Given the description of an element on the screen output the (x, y) to click on. 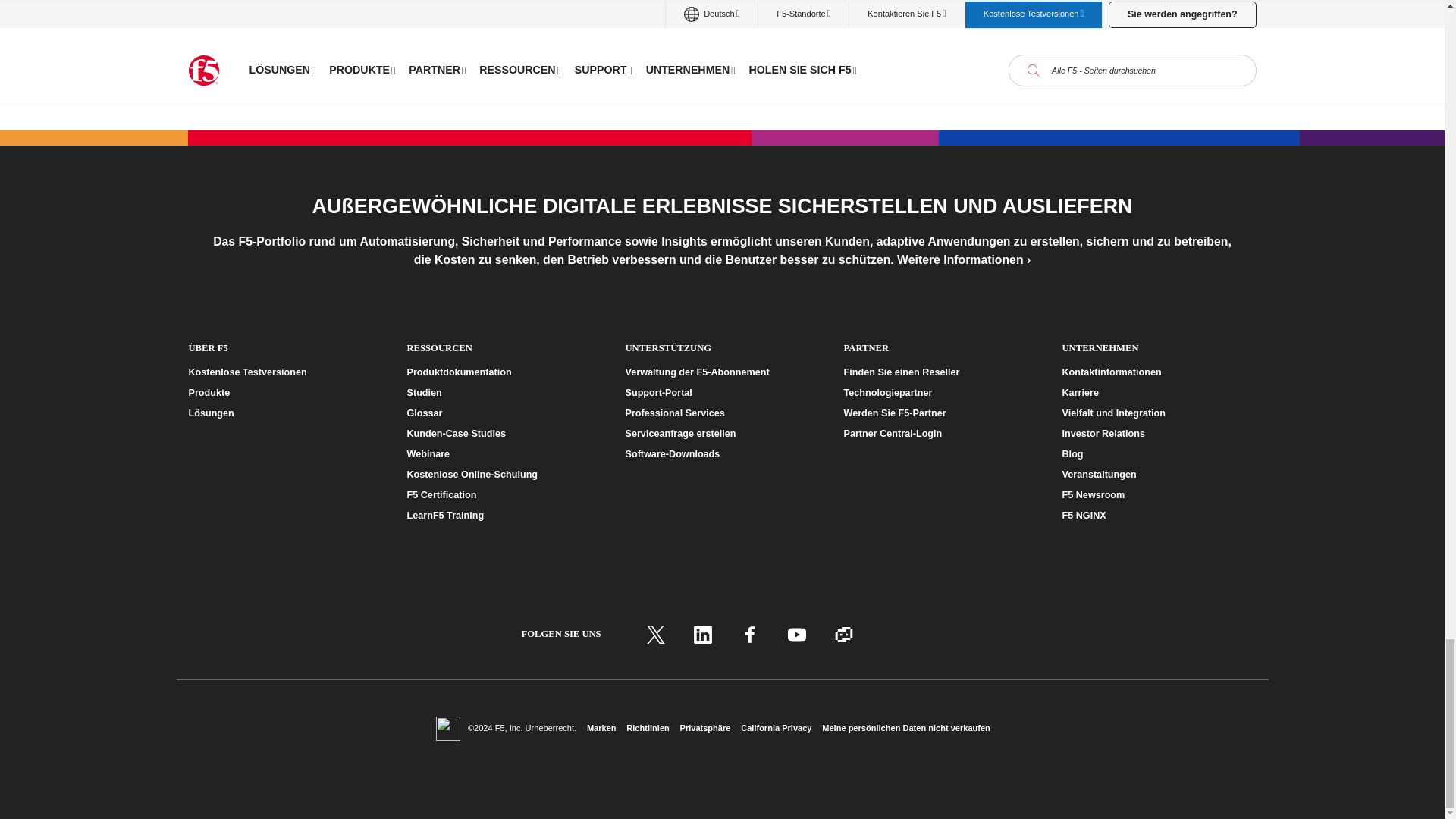
Studien (502, 392)
Kostenlose Testversionen (284, 372)
Produktdokumentation (502, 372)
Kunden-Case Studies (502, 433)
Kostenlose Online-Schulung (502, 474)
Produkte (284, 392)
Webinare (502, 454)
Glossar (502, 413)
F5 Certification (502, 495)
